Given the description of an element on the screen output the (x, y) to click on. 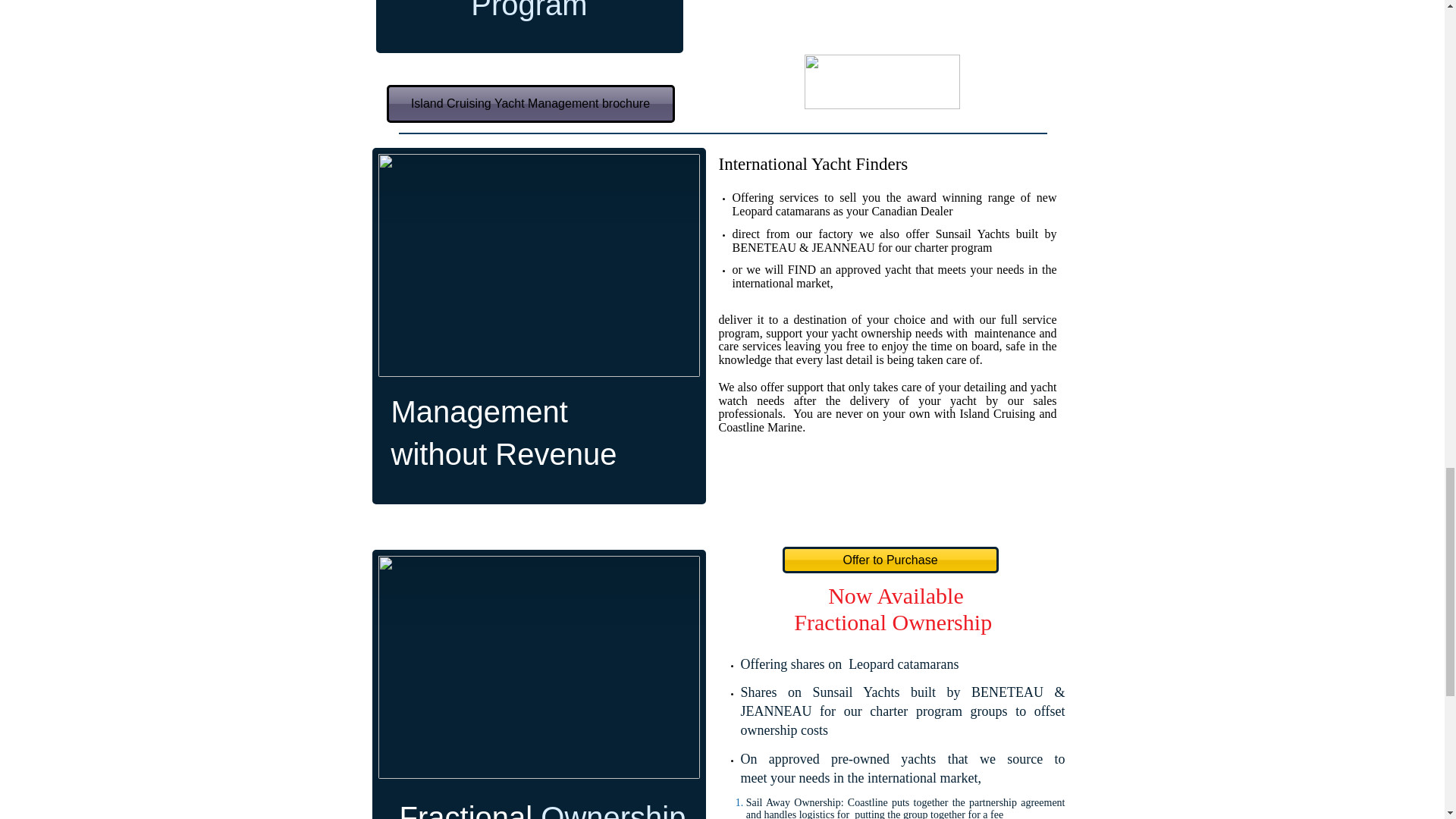
jeaaneau439f.jpg (538, 667)
